Given the description of an element on the screen output the (x, y) to click on. 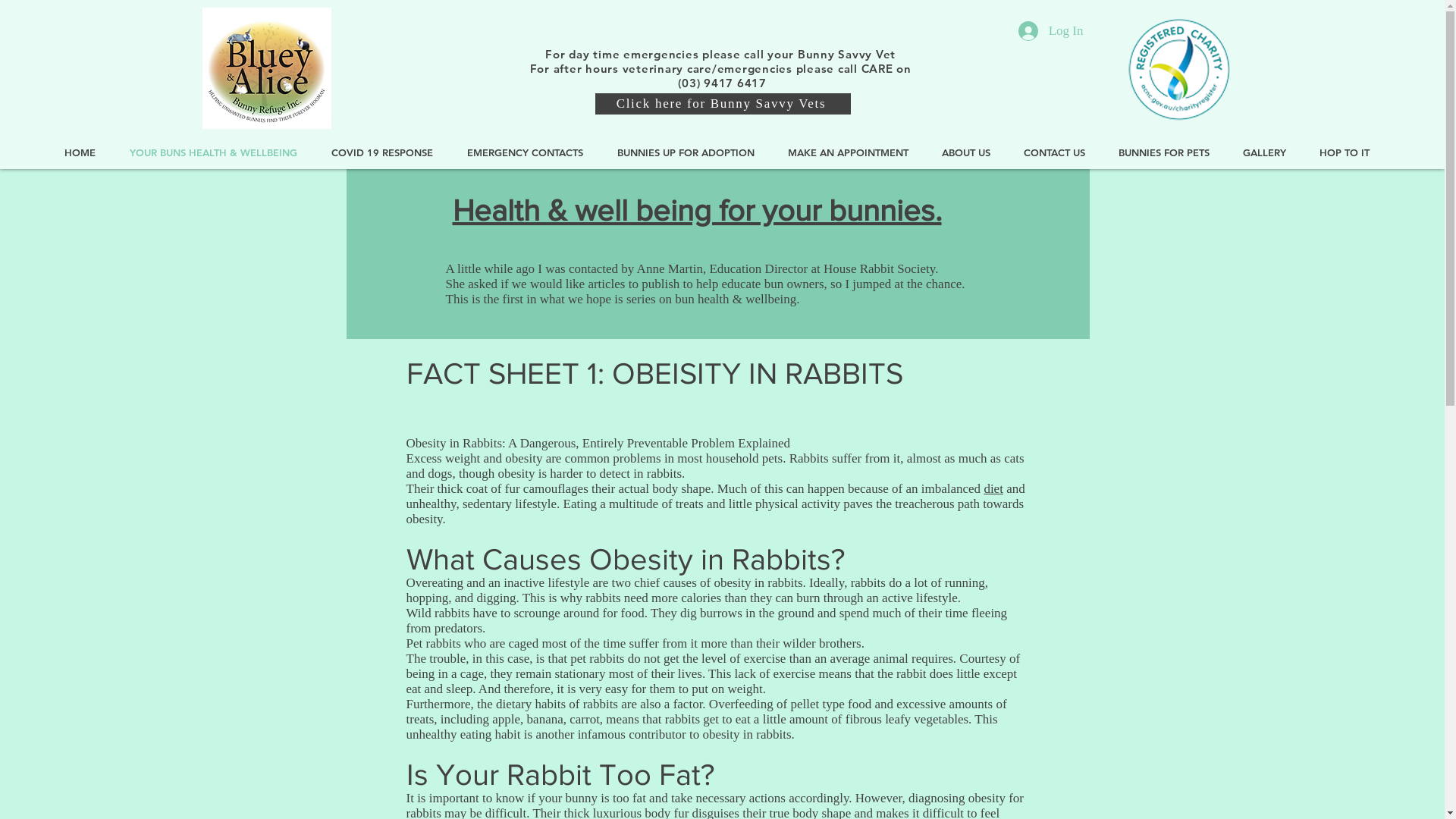
BUNNIES UP FOR ADOPTION Element type: text (690, 152)
COVID 19 RESPONSE Element type: text (387, 152)
GALLERY Element type: text (1269, 152)
HOP TO IT Element type: text (1349, 152)
Click here for Bunny Savvy Vets Element type: text (722, 103)
Log In Element type: text (1050, 30)
ABOUT US Element type: text (971, 152)
EMERGENCY CONTACTS Element type: text (530, 152)
CONTACT US Element type: text (1059, 152)
BUNNIES FOR PETS Element type: text (1169, 152)
YOUR BUNS HEALTH & WELLBEING Element type: text (219, 152)
diet Element type: text (993, 488)
HOME Element type: text (85, 152)
MAKE AN APPOINTMENT Element type: text (853, 152)
